Given the description of an element on the screen output the (x, y) to click on. 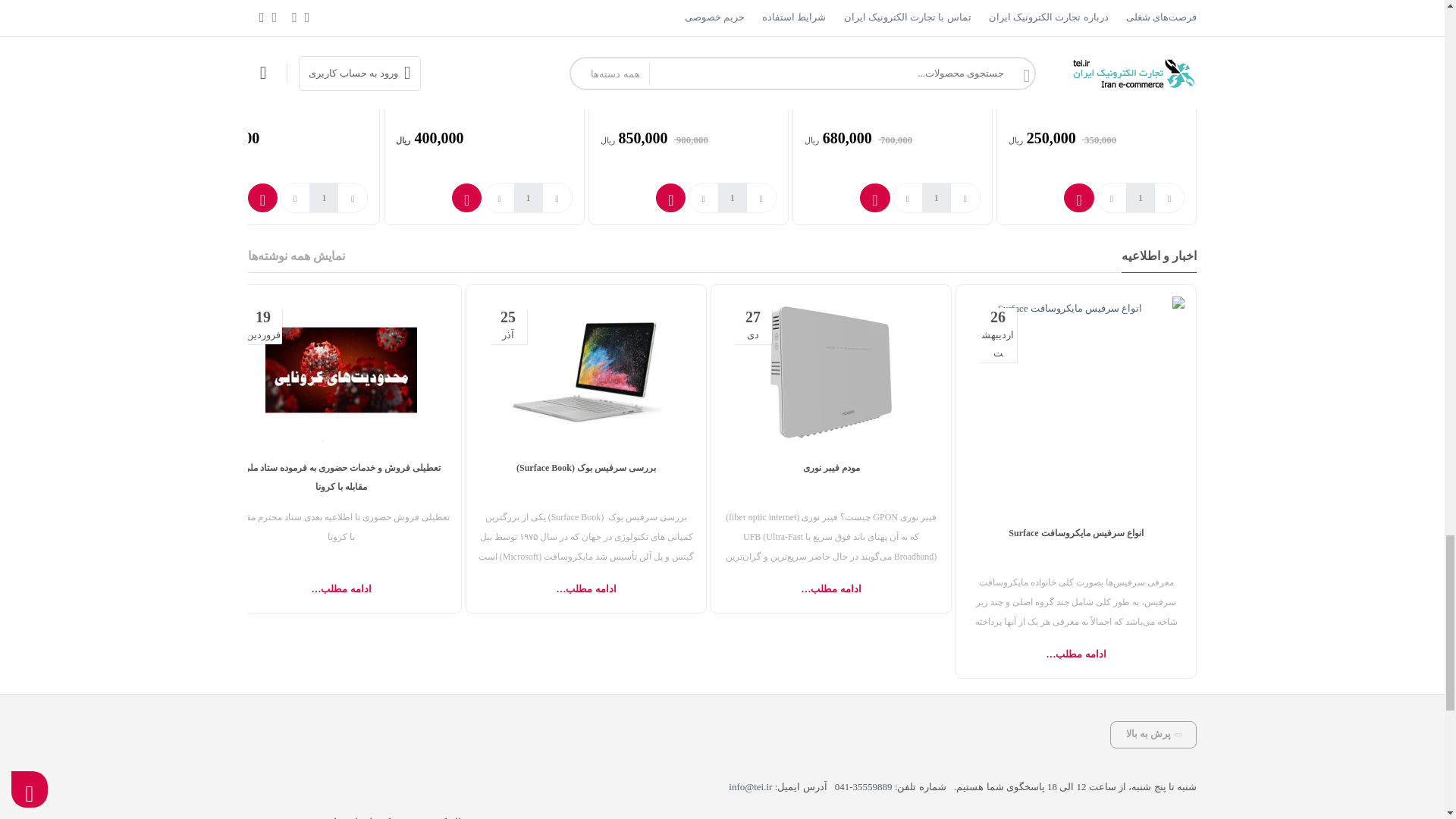
1 (1139, 197)
1 (528, 197)
1 (935, 197)
1 (731, 197)
1 (322, 197)
